Given the description of an element on the screen output the (x, y) to click on. 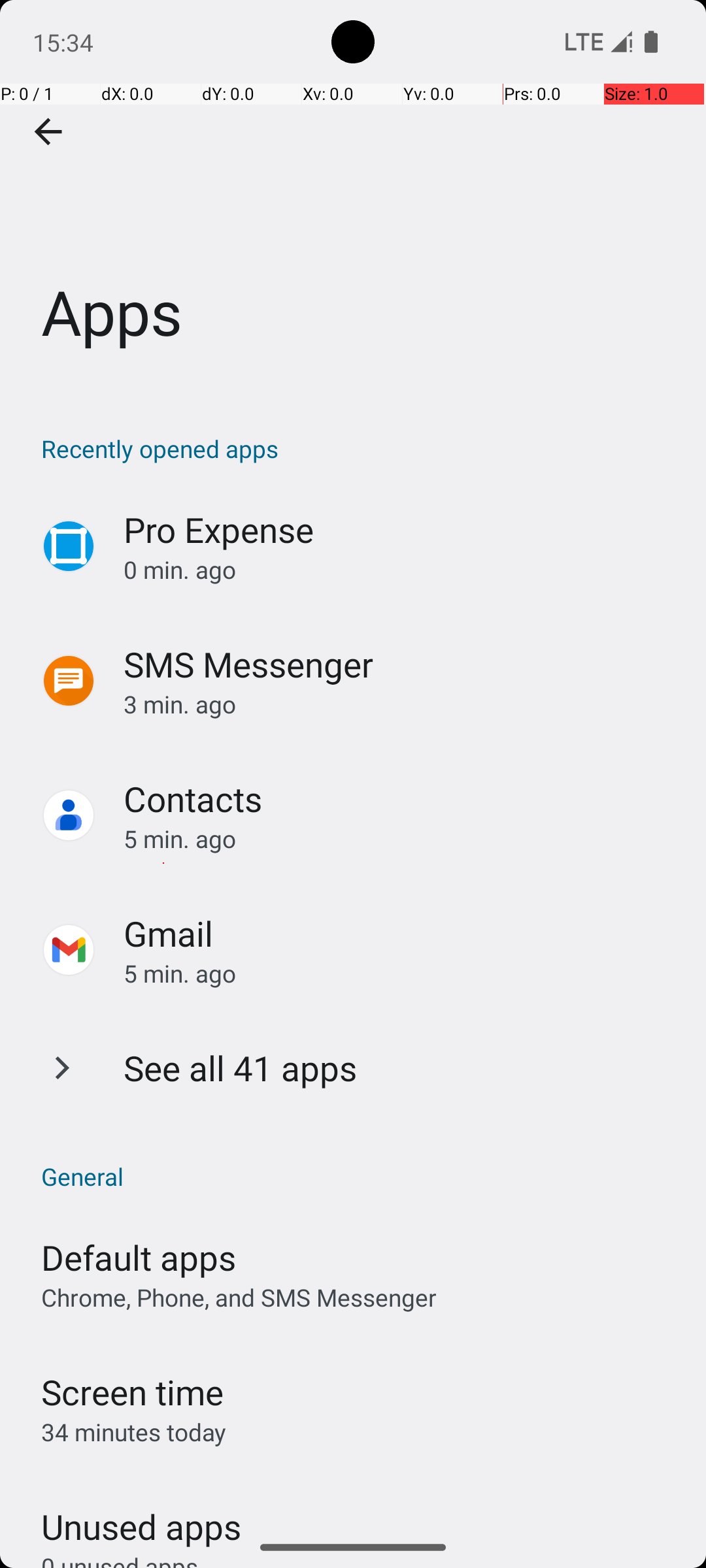
3 min. ago Element type: android.widget.TextView (400, 703)
5 min. ago Element type: android.widget.TextView (400, 838)
34 minutes today Element type: android.widget.TextView (133, 1431)
